Given the description of an element on the screen output the (x, y) to click on. 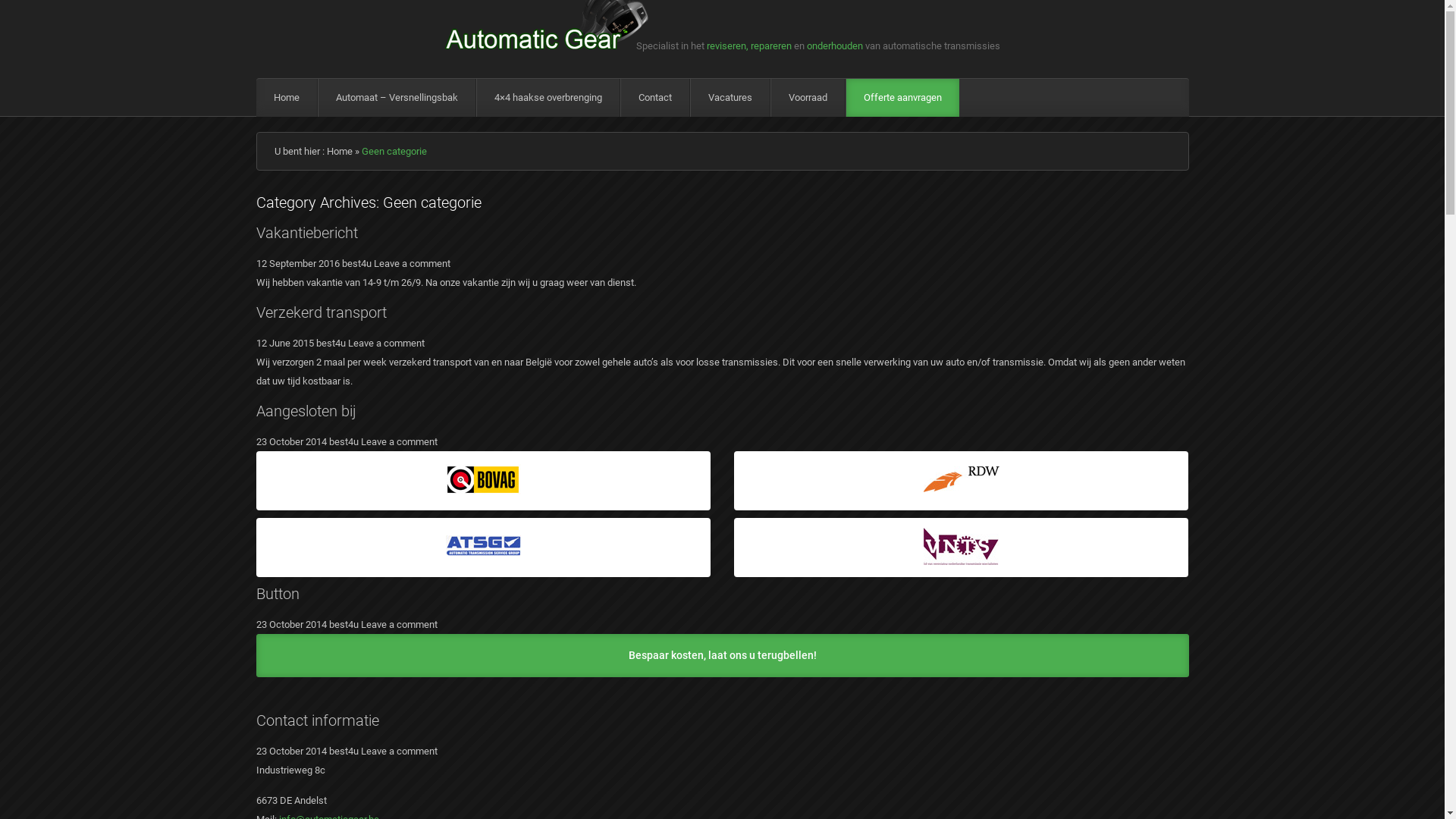
23 October 2014 Element type: text (291, 624)
23 October 2014 Element type: text (291, 441)
Verzekerd transport Element type: text (321, 312)
Aangesloten bij Element type: text (306, 410)
Leave a comment Element type: text (398, 751)
Leave a comment Element type: text (411, 263)
Vakantiebericht Element type: text (306, 232)
Button Element type: text (277, 593)
Offerte aanvragen Element type: text (902, 97)
best4u Element type: text (343, 441)
12 September 2016 Element type: text (297, 263)
Home Element type: text (286, 97)
Leave a comment Element type: text (398, 624)
best4u Element type: text (330, 343)
Contact informatie Element type: text (317, 720)
Vacatures Element type: text (729, 97)
Contact Element type: text (654, 97)
best4u Element type: text (343, 751)
Leave a comment Element type: text (398, 441)
Home Element type: text (338, 151)
Leave a comment Element type: text (385, 343)
Voorraad Element type: text (807, 97)
Bespaar kosten, laat ons u terugbellen! Element type: text (722, 655)
23 October 2014 Element type: text (291, 751)
best4u Element type: text (343, 624)
12 June 2015 Element type: text (284, 343)
best4u Element type: text (355, 263)
